Given the description of an element on the screen output the (x, y) to click on. 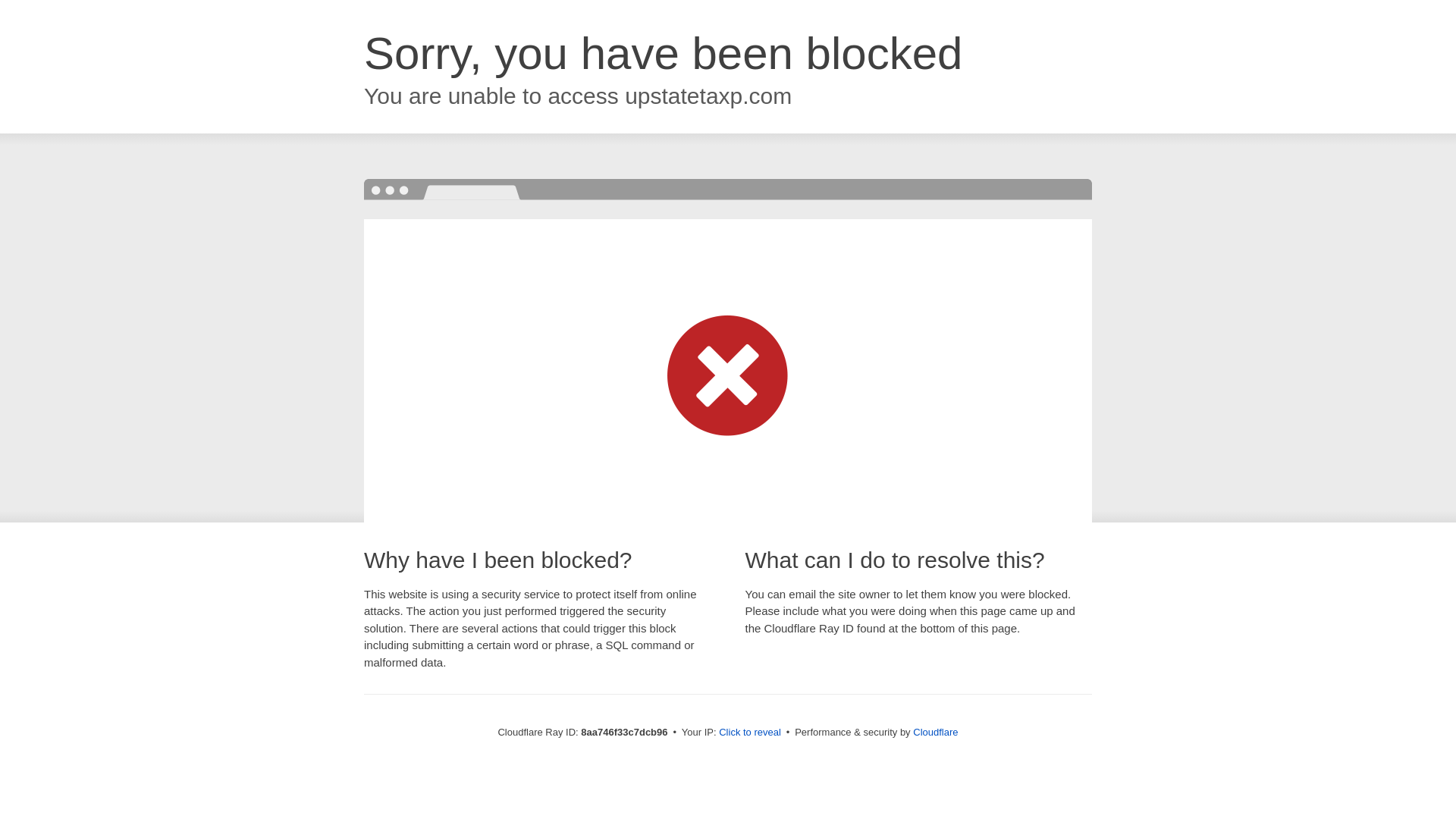
Cloudflare (935, 731)
Click to reveal (749, 732)
